Given the description of an element on the screen output the (x, y) to click on. 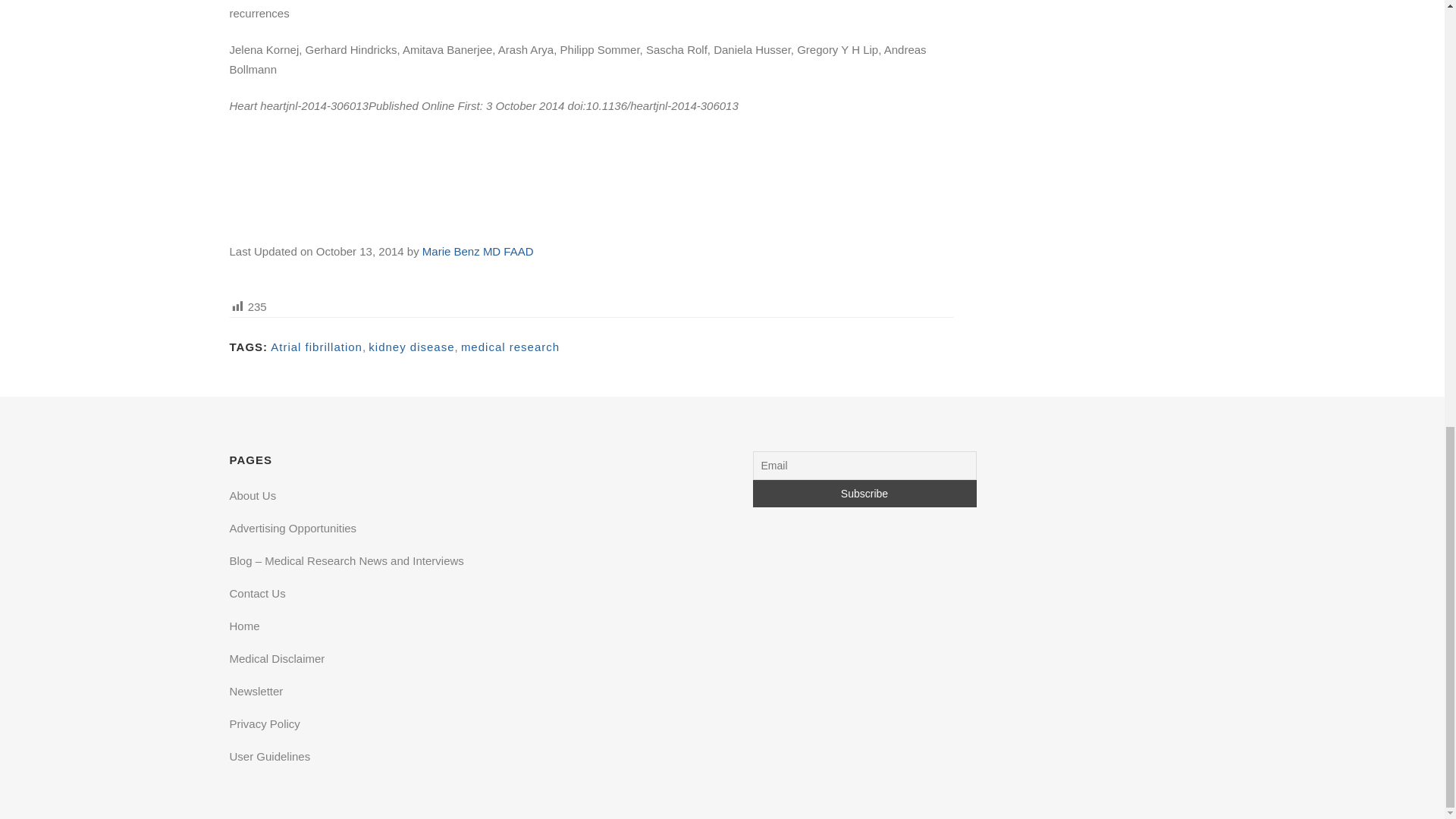
Subscribe (863, 492)
